Given the description of an element on the screen output the (x, y) to click on. 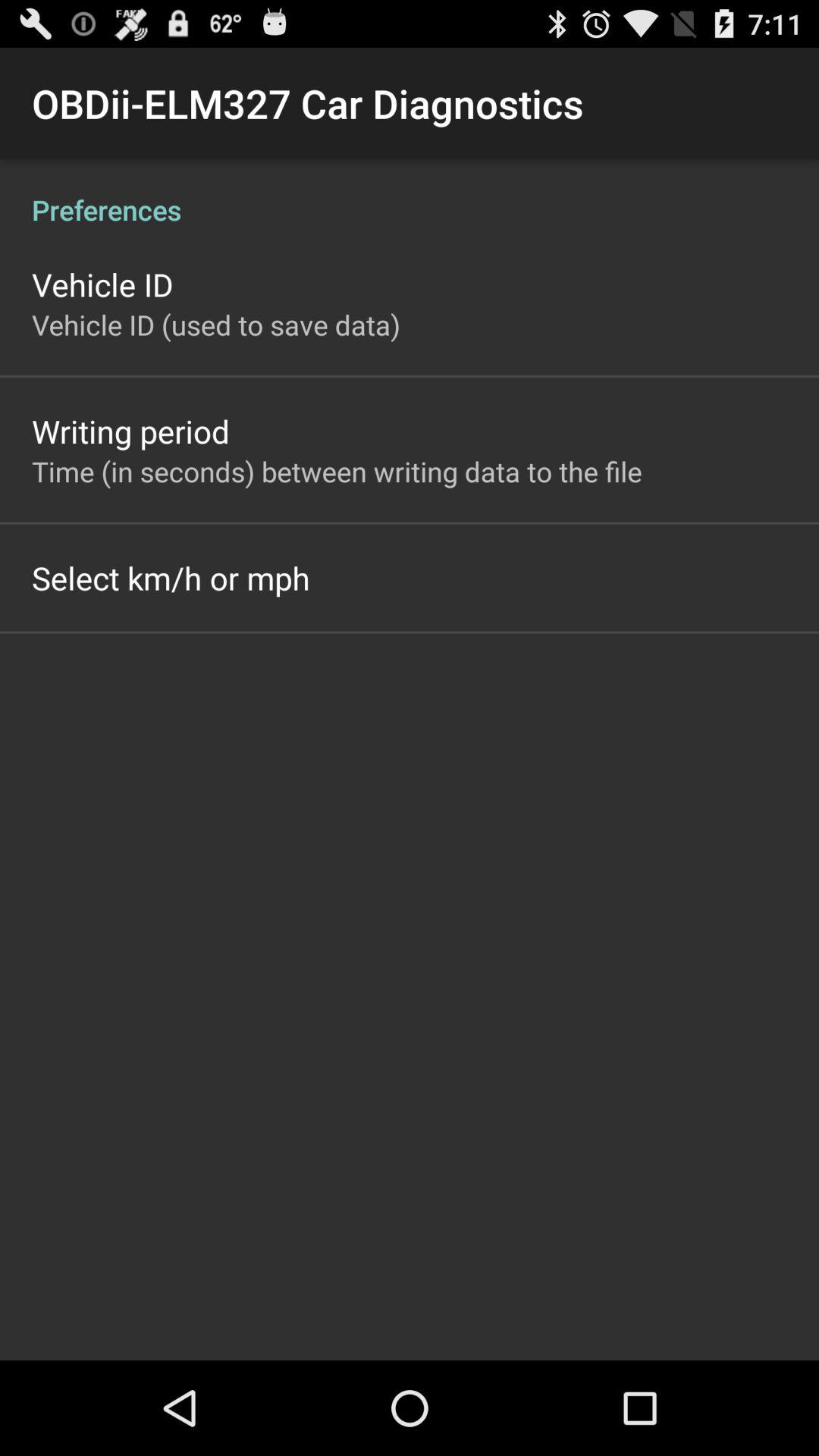
click writing period item (130, 430)
